Given the description of an element on the screen output the (x, y) to click on. 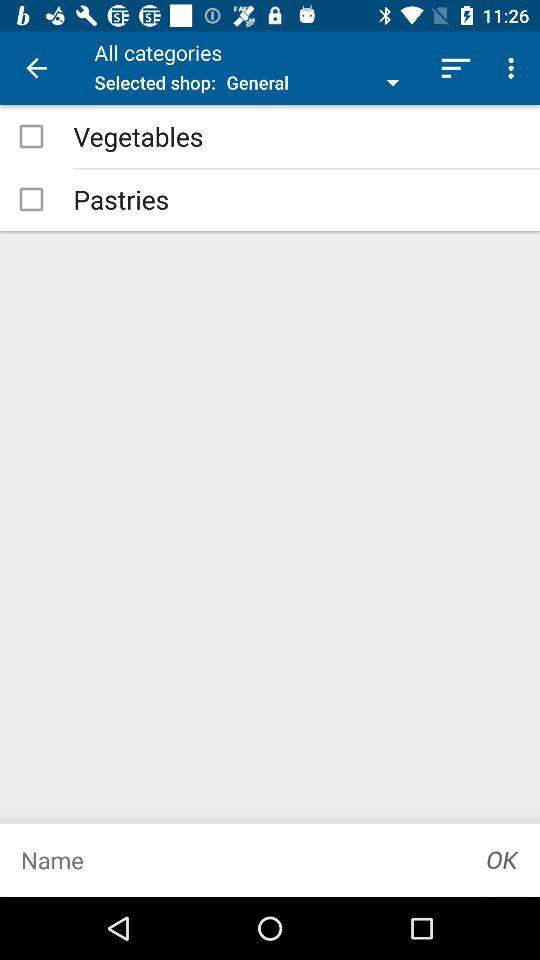
turn on item next to general icon (455, 67)
